Given the description of an element on the screen output the (x, y) to click on. 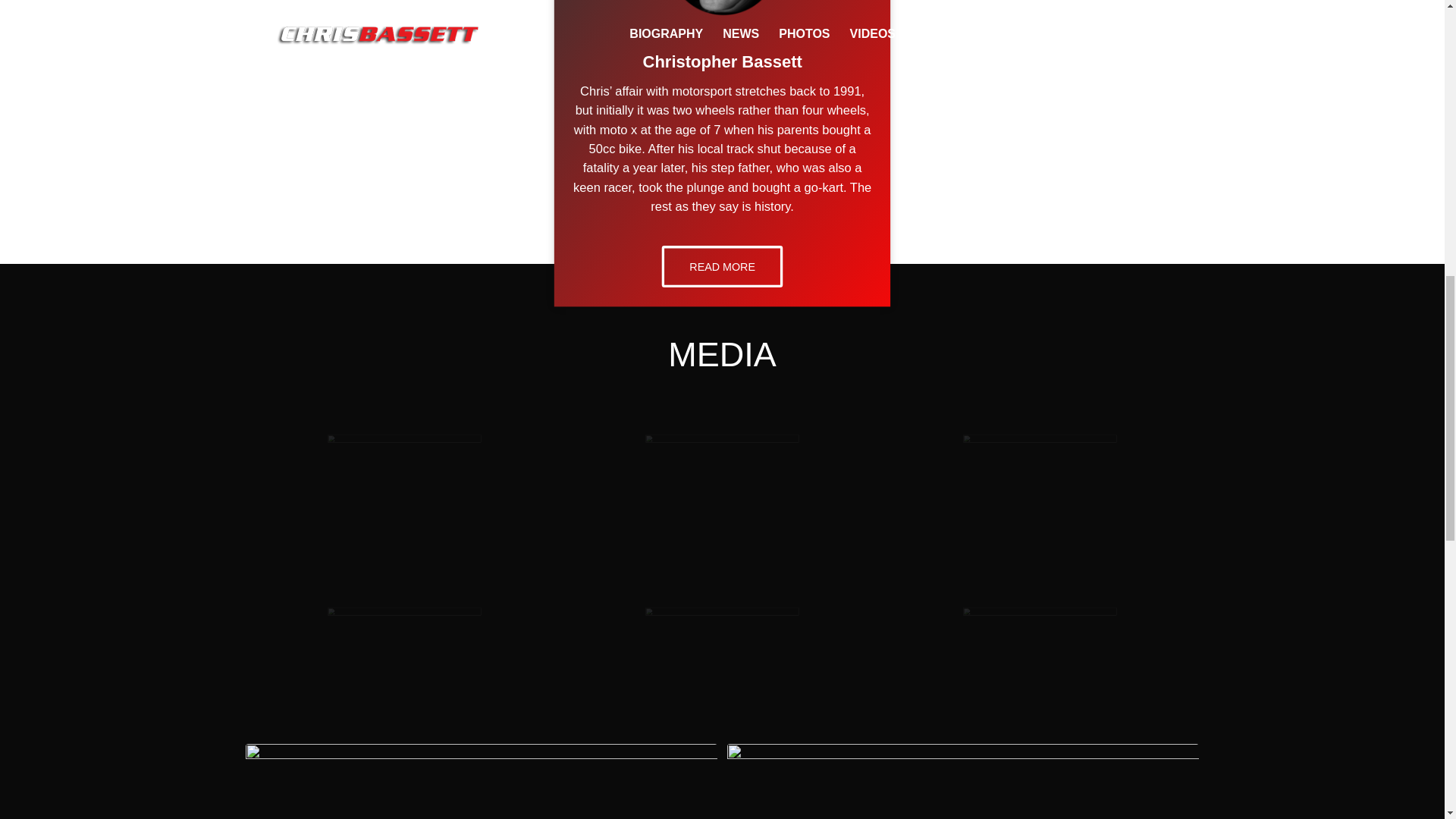
READ MORE (716, 264)
